Given the description of an element on the screen output the (x, y) to click on. 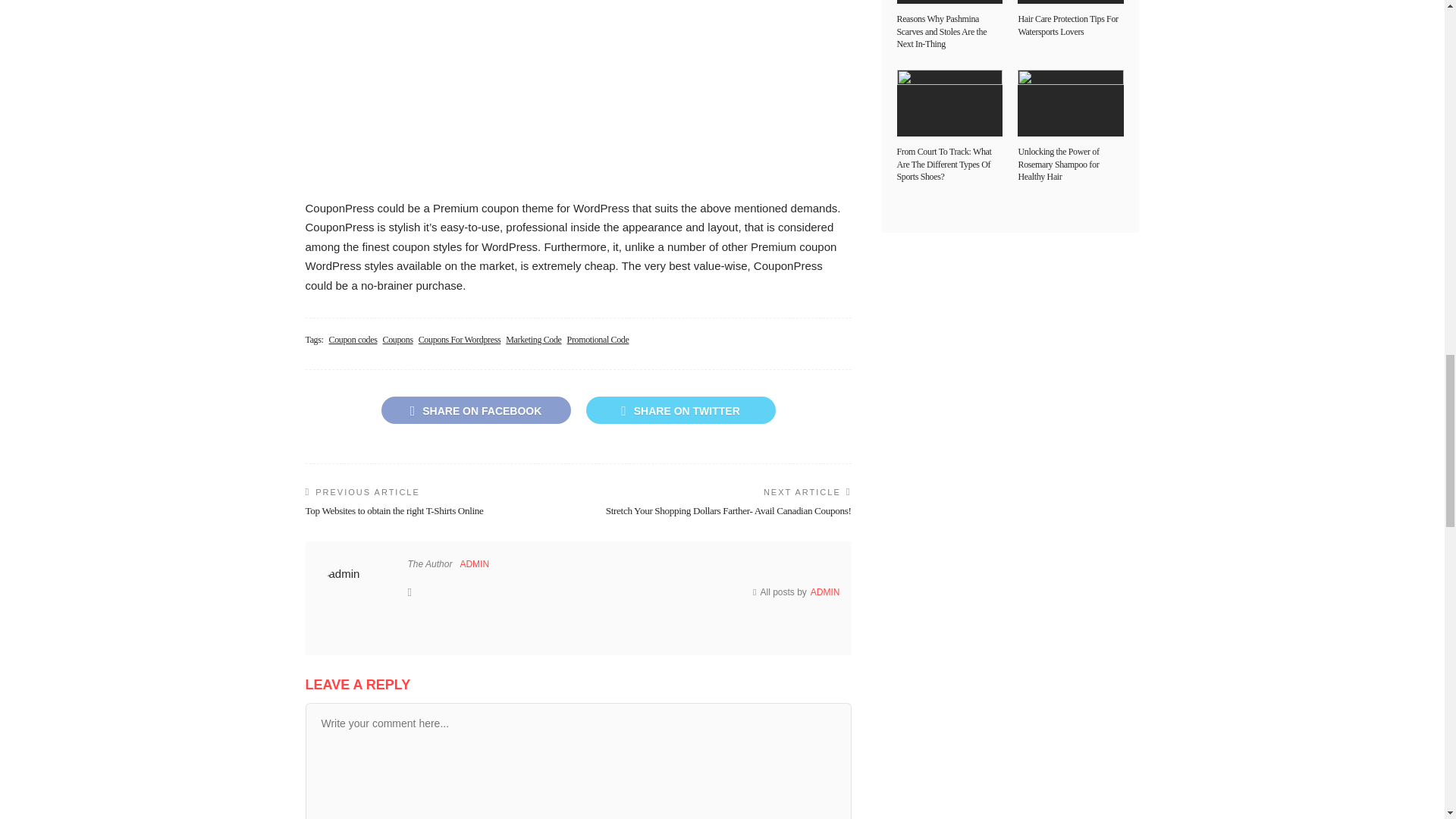
Marketing Code (532, 339)
Coupons For Wordpress (459, 339)
SHARE ON FACEBOOK (475, 409)
Coupons For Wordpress (459, 339)
Coupon codes (353, 339)
Coupons (397, 339)
Coupon codes (353, 339)
Top Websites to obtain the right T-Shirts Online (393, 510)
Marketing Code (532, 339)
